Given the description of an element on the screen output the (x, y) to click on. 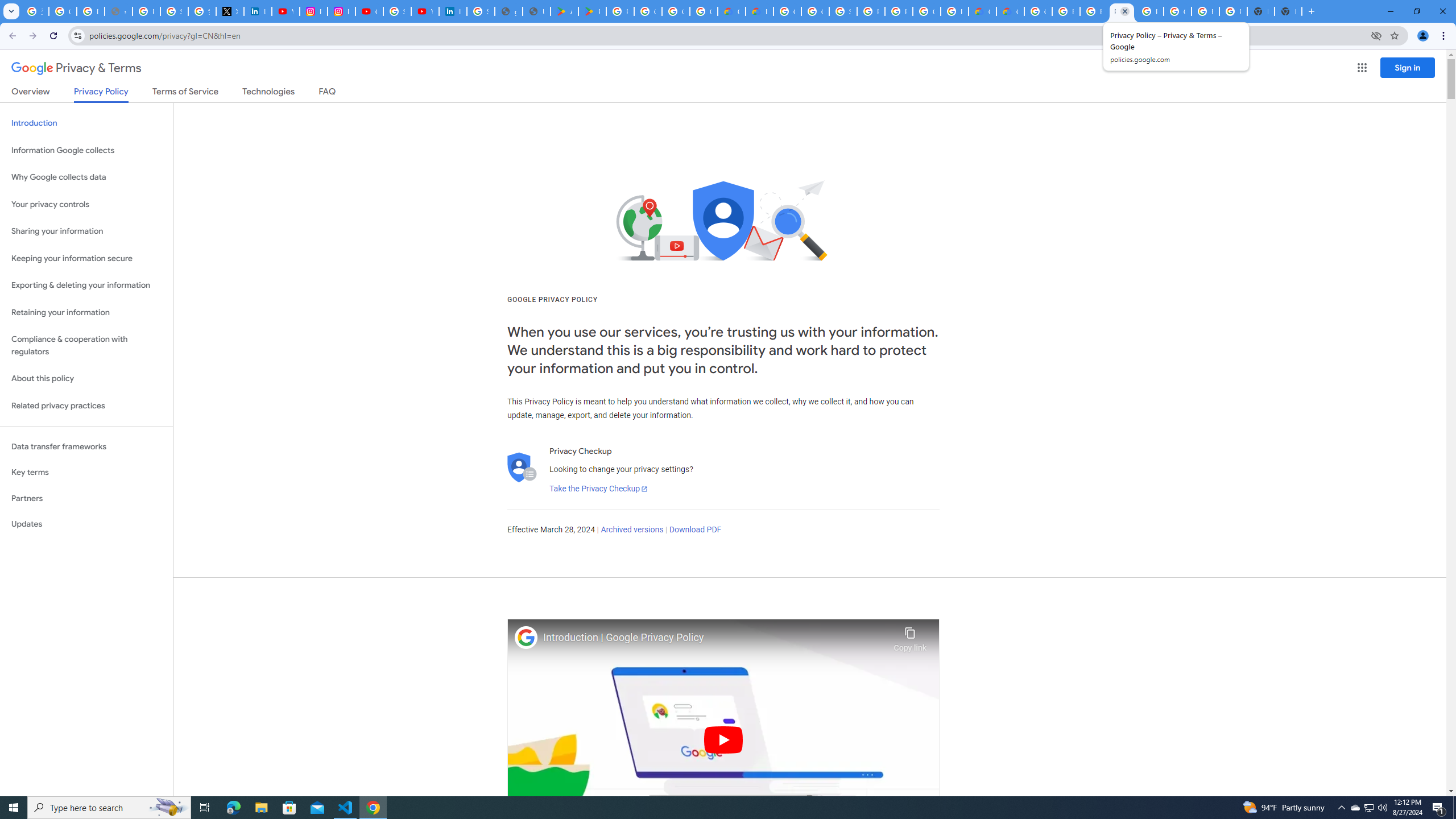
Updates (86, 524)
Introduction (86, 122)
Customer Care | Google Cloud (731, 11)
X (229, 11)
Your privacy controls (86, 204)
Browse Chrome as a guest - Computer - Google Chrome Help (1093, 11)
Sharing your information (86, 230)
Google Cloud Platform (1038, 11)
